Given the description of an element on the screen output the (x, y) to click on. 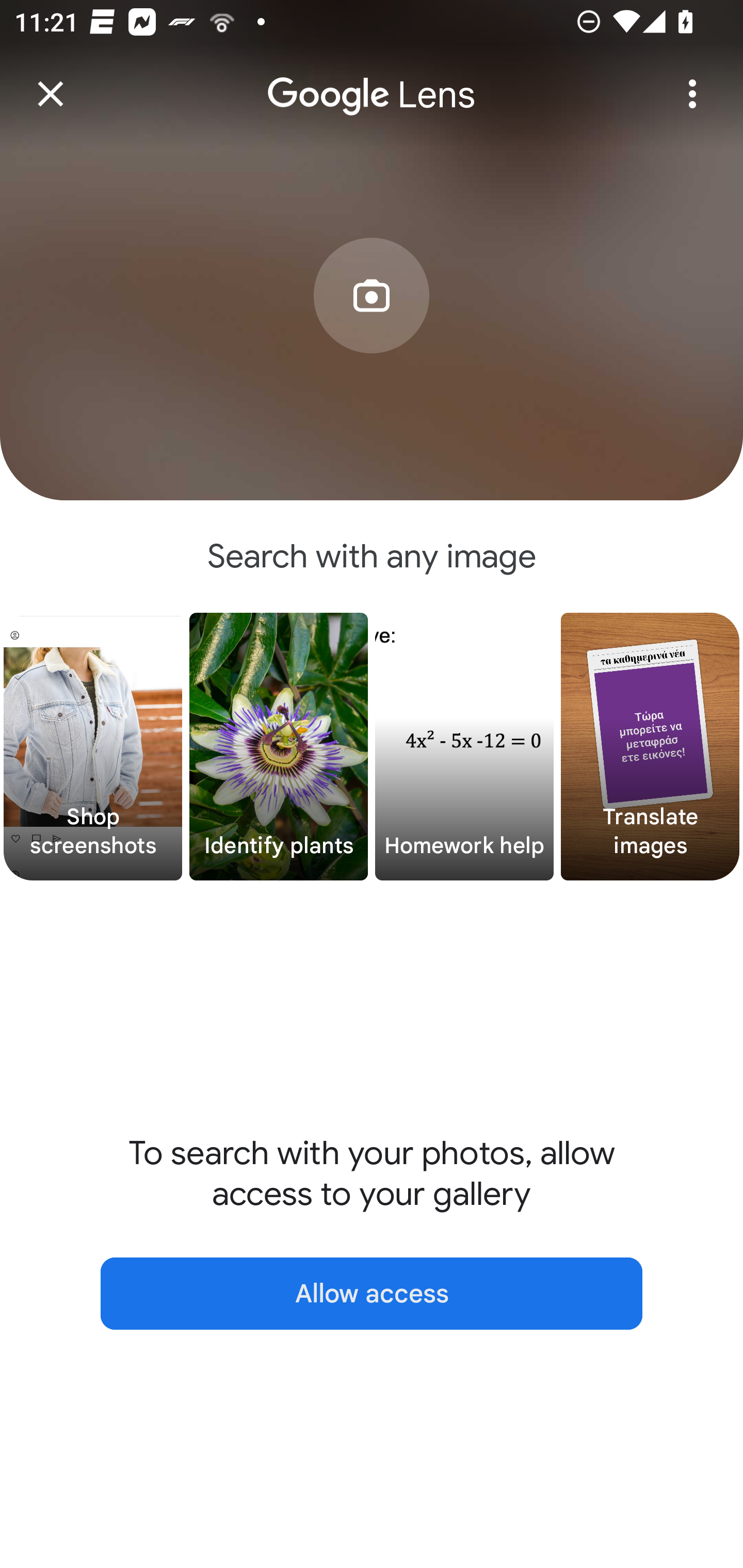
Google Lens Lens (371, 80)
Close (50, 94)
More options (692, 94)
Search with your camera (371, 326)
Shop screenshots (92, 747)
Identify plants (278, 747)
Homework help (464, 747)
Translate images (649, 747)
Allow access (371, 1293)
